Given the description of an element on the screen output the (x, y) to click on. 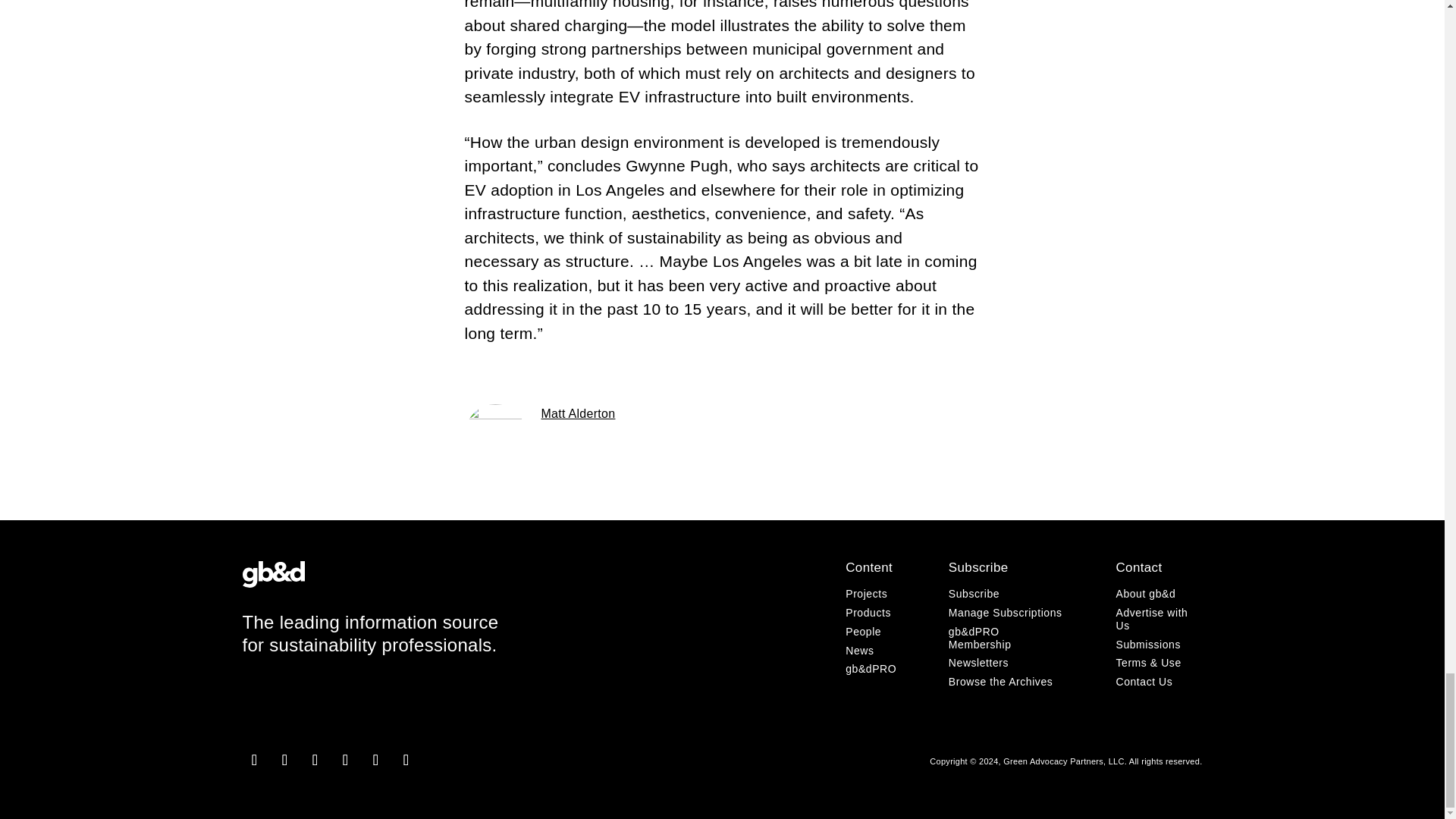
Follow on LinkedIn (314, 759)
Follow on Instagram (254, 759)
People (862, 631)
Follow on Facebook (285, 759)
Matt Alderton (578, 412)
Products (868, 612)
Follow on Twitter (345, 759)
Follow on RSS (406, 759)
News (859, 650)
Projects (865, 593)
